Given the description of an element on the screen output the (x, y) to click on. 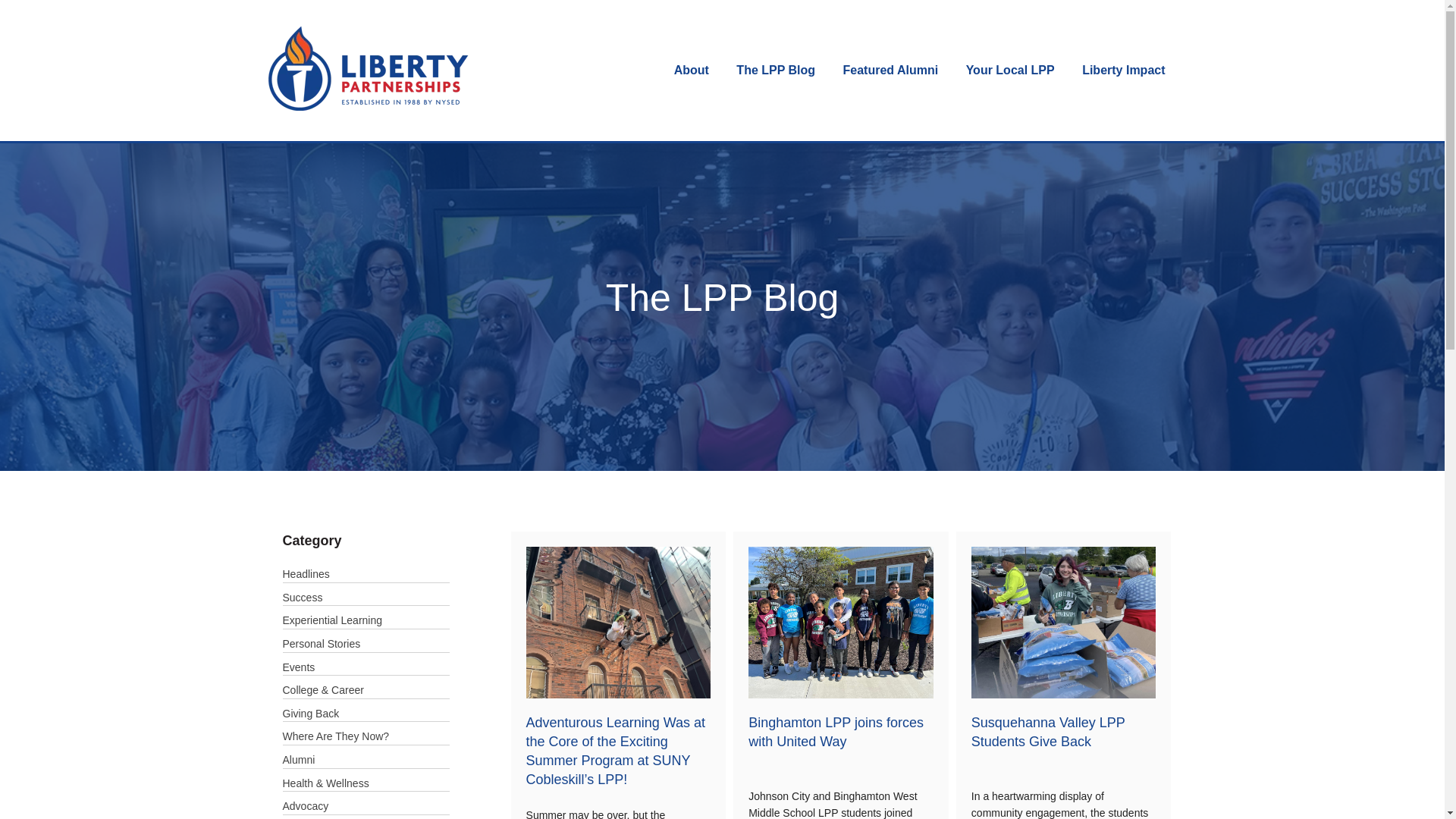
Personal Stories (320, 644)
Where Are They Now? (335, 736)
Headlines (305, 573)
Featured Alumni (891, 70)
Events (298, 666)
Experiential Learning (331, 620)
Advocacy (305, 806)
About (691, 70)
Susquehanna Valley LPP Students Give Back (1048, 731)
Your Local LPP (1010, 70)
Binghamton LPP joins forces with United Way (835, 731)
Liberty Impact (1122, 70)
Success (301, 597)
Giving Back (310, 713)
The LPP Blog (775, 70)
